Given the description of an element on the screen output the (x, y) to click on. 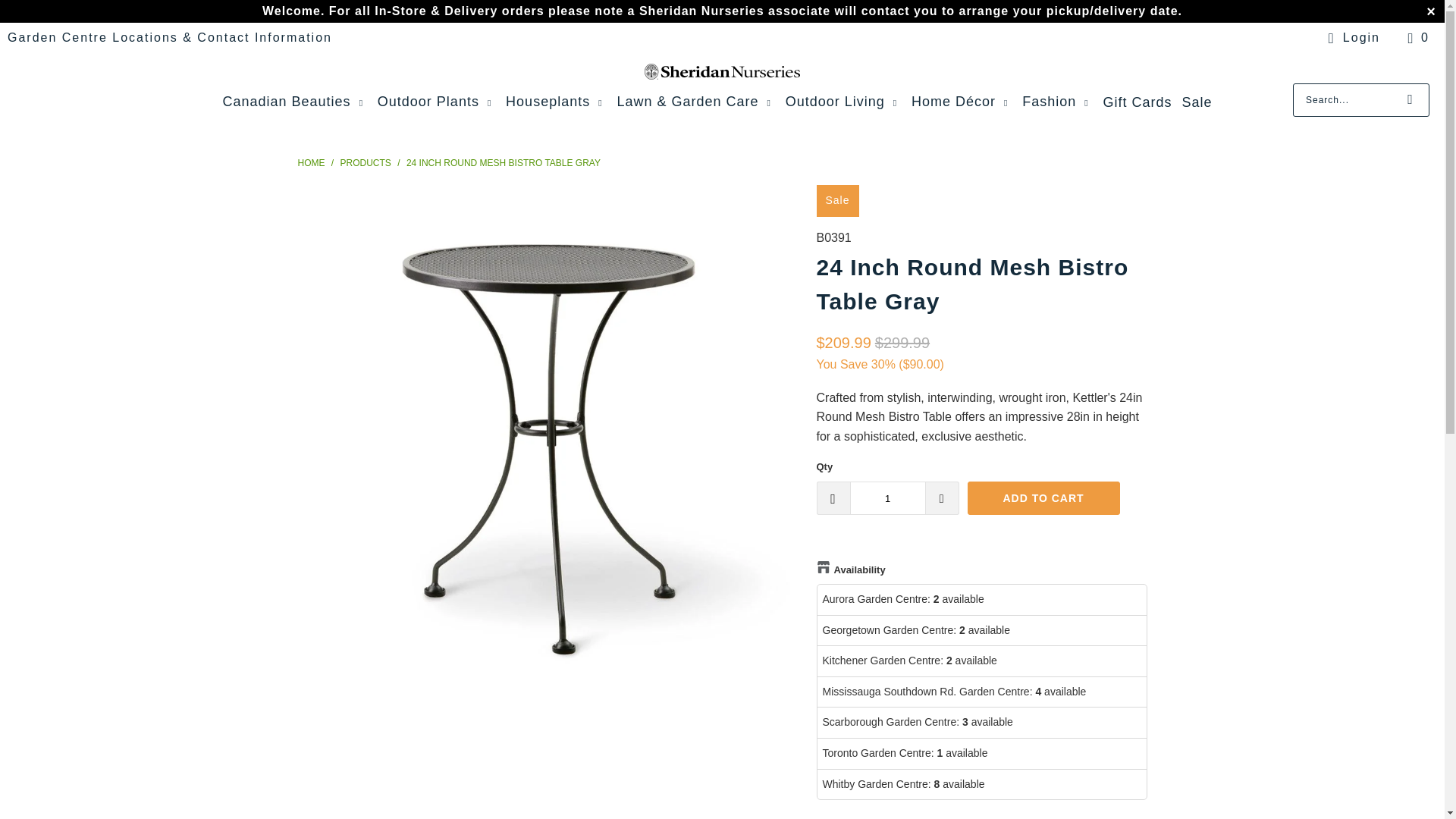
Products (367, 163)
Sheridan Nurseries Online (722, 71)
1 (886, 498)
My Account  (1351, 37)
Sheridan Nurseries Online (311, 163)
